Given the description of an element on the screen output the (x, y) to click on. 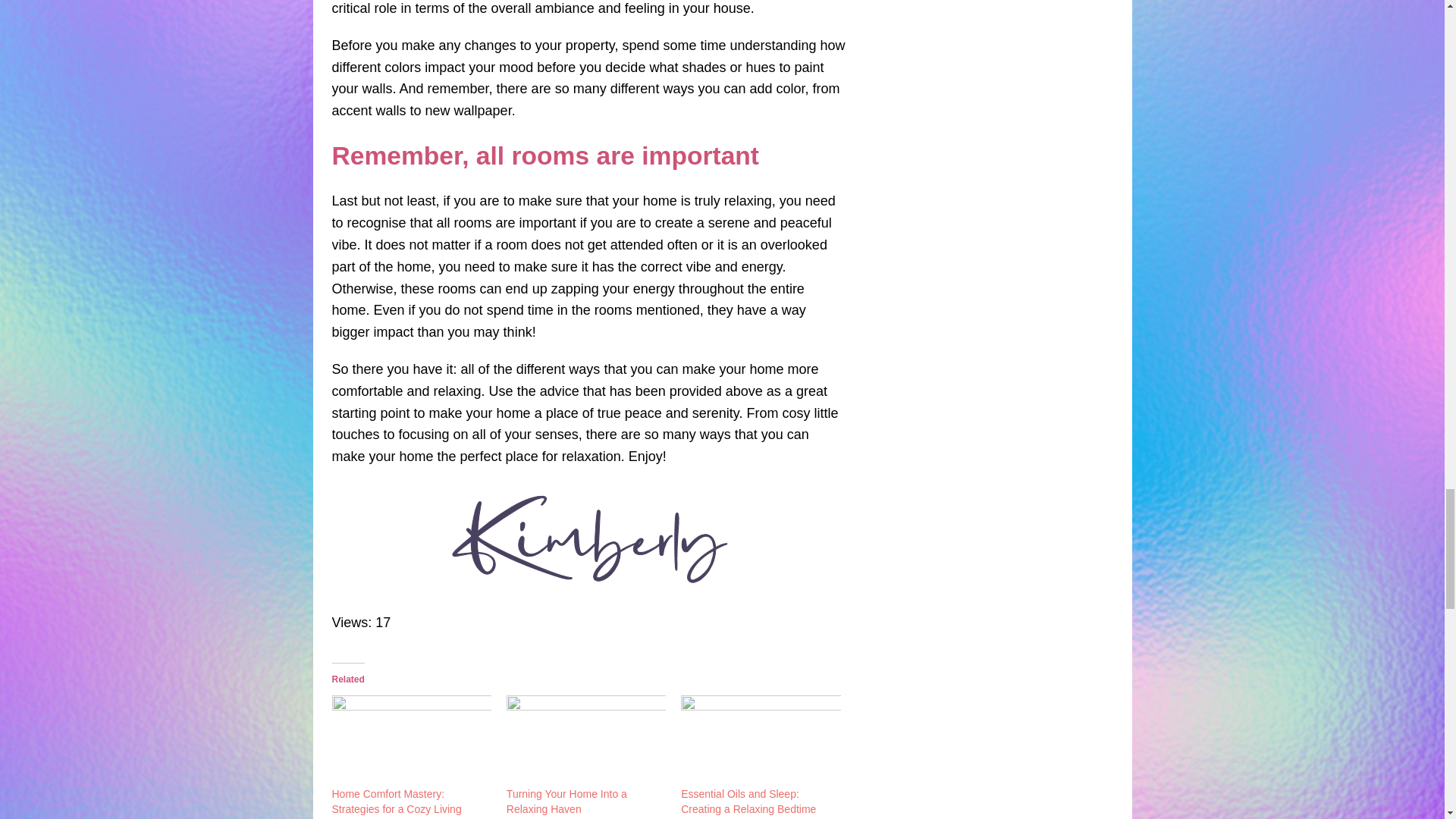
Turning Your Home Into a Relaxing Haven (566, 800)
Home Comfort Mastery: Strategies for a Cozy Living Space (411, 740)
Home Comfort Mastery: Strategies for a Cozy Living Space (396, 803)
Turning Your Home Into a Relaxing Haven (585, 740)
